Given the description of an element on the screen output the (x, y) to click on. 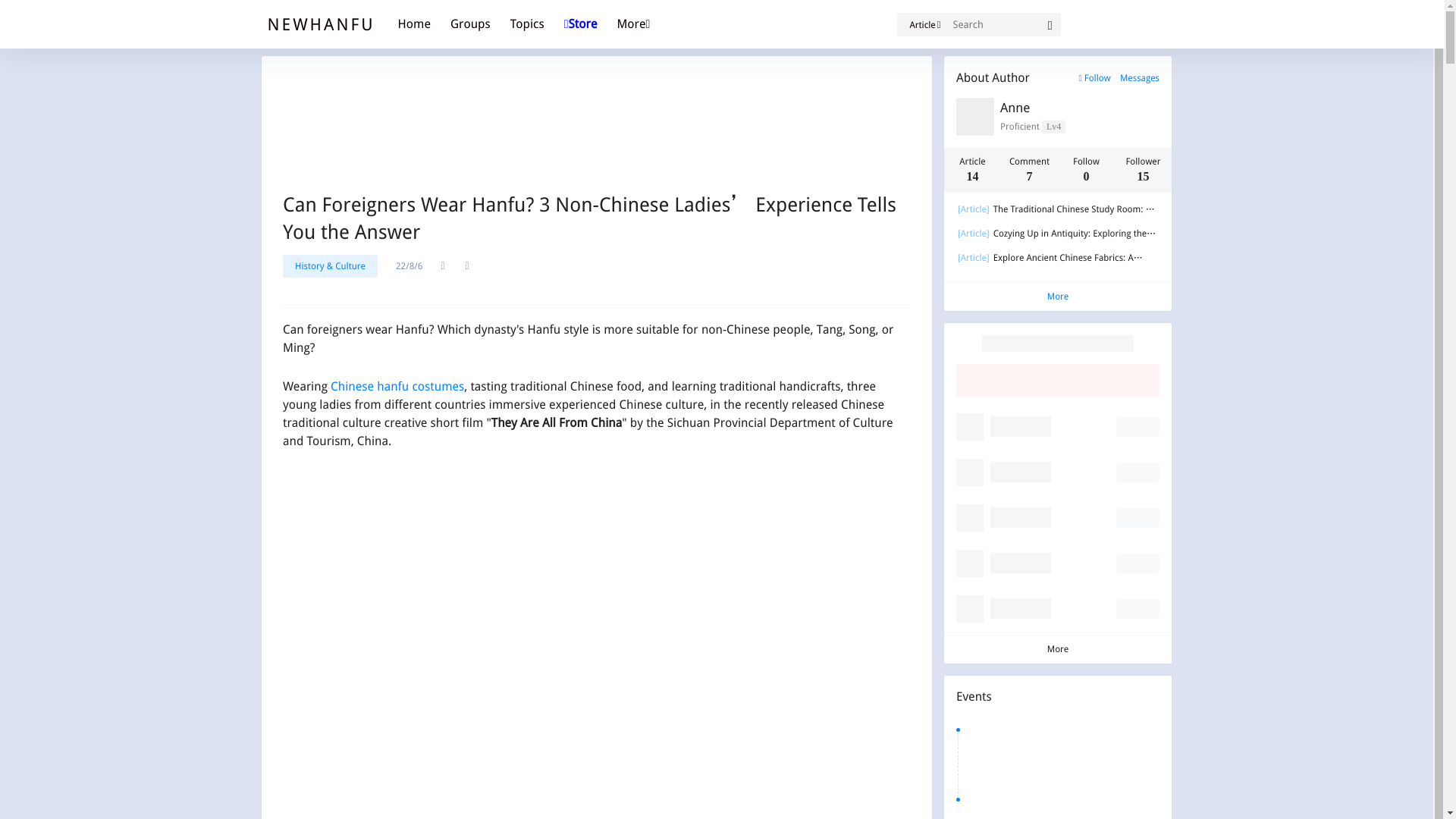
Article (921, 23)
Groups (469, 23)
NEWHANFU (320, 23)
